Given the description of an element on the screen output the (x, y) to click on. 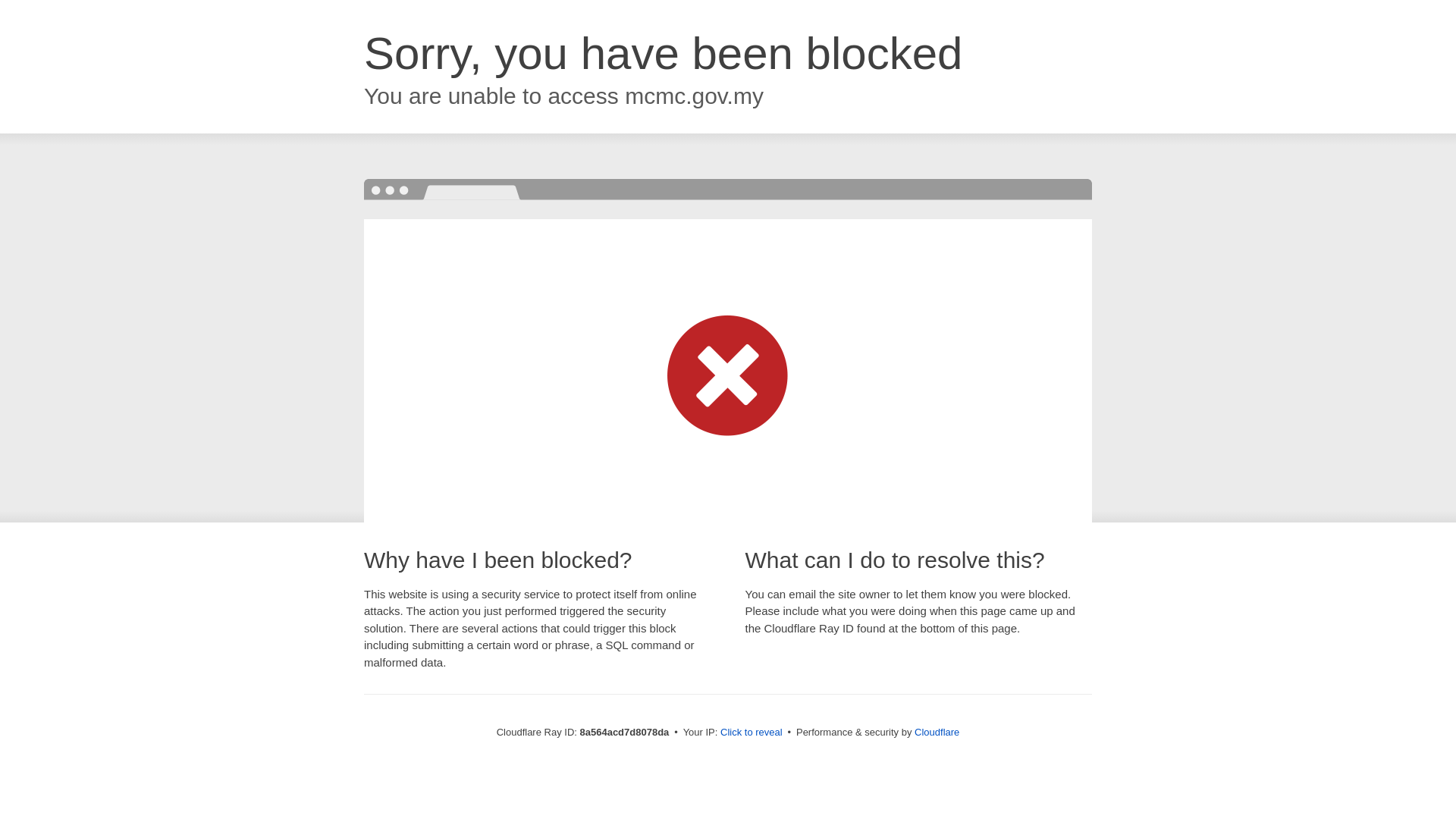
Click to reveal (751, 732)
Cloudflare (936, 731)
